Given the description of an element on the screen output the (x, y) to click on. 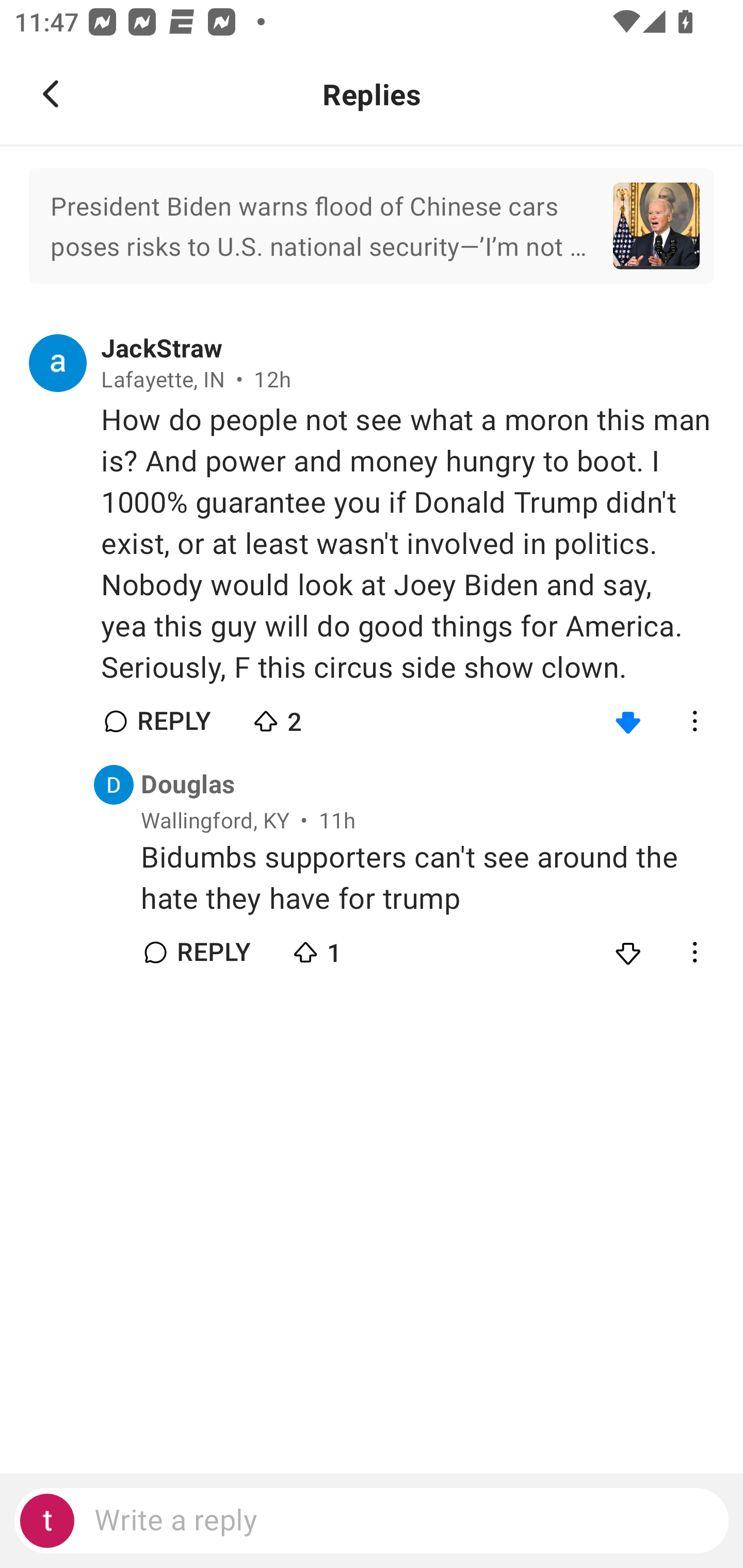
Navigate up (50, 93)
JackStraw (161, 348)
2 (320, 717)
REPLY (173, 721)
Douglas (188, 784)
1 (360, 947)
REPLY (213, 952)
Write a reply (371, 1520)
